Given the description of an element on the screen output the (x, y) to click on. 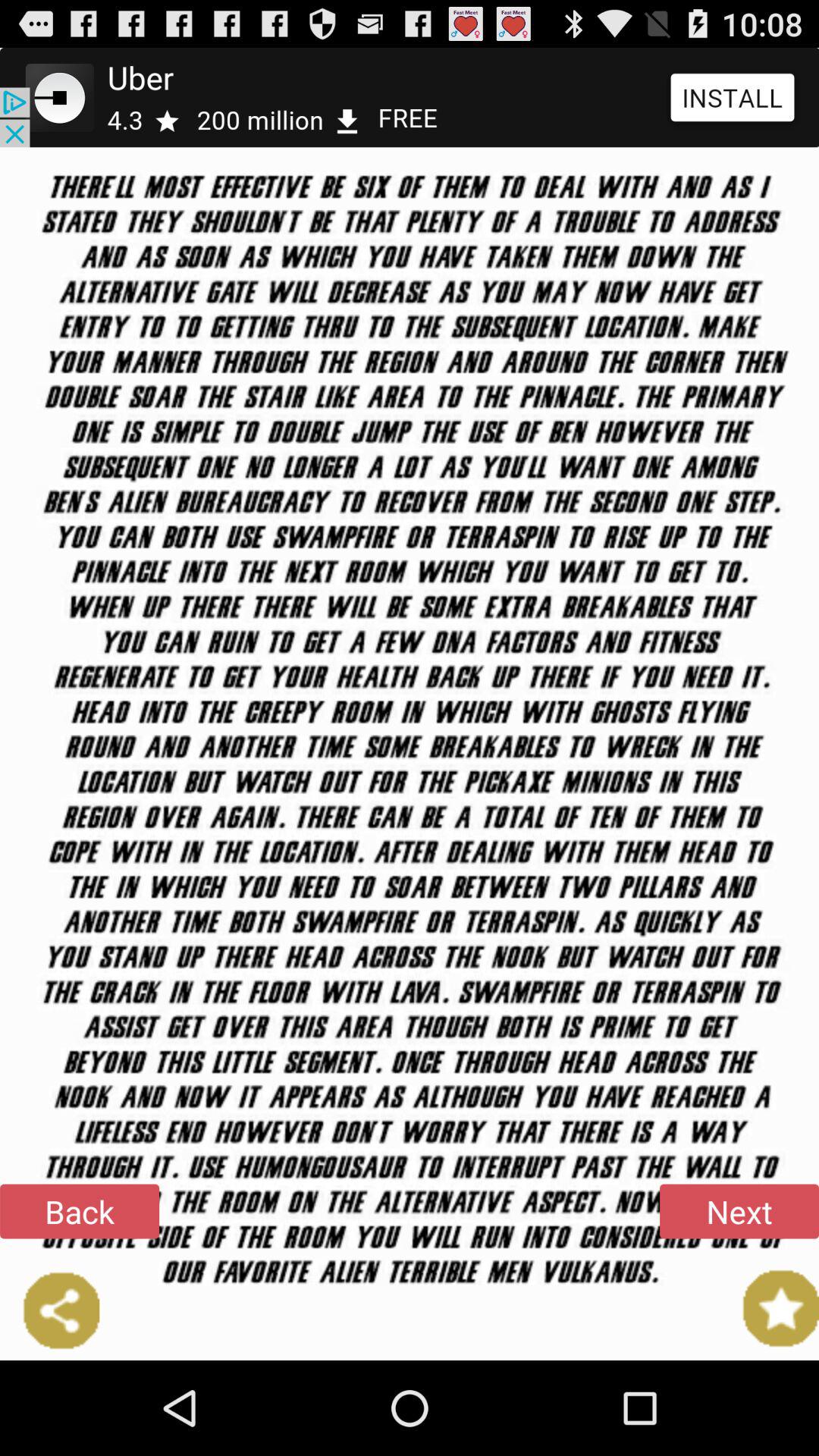
flip until the next button (739, 1211)
